Given the description of an element on the screen output the (x, y) to click on. 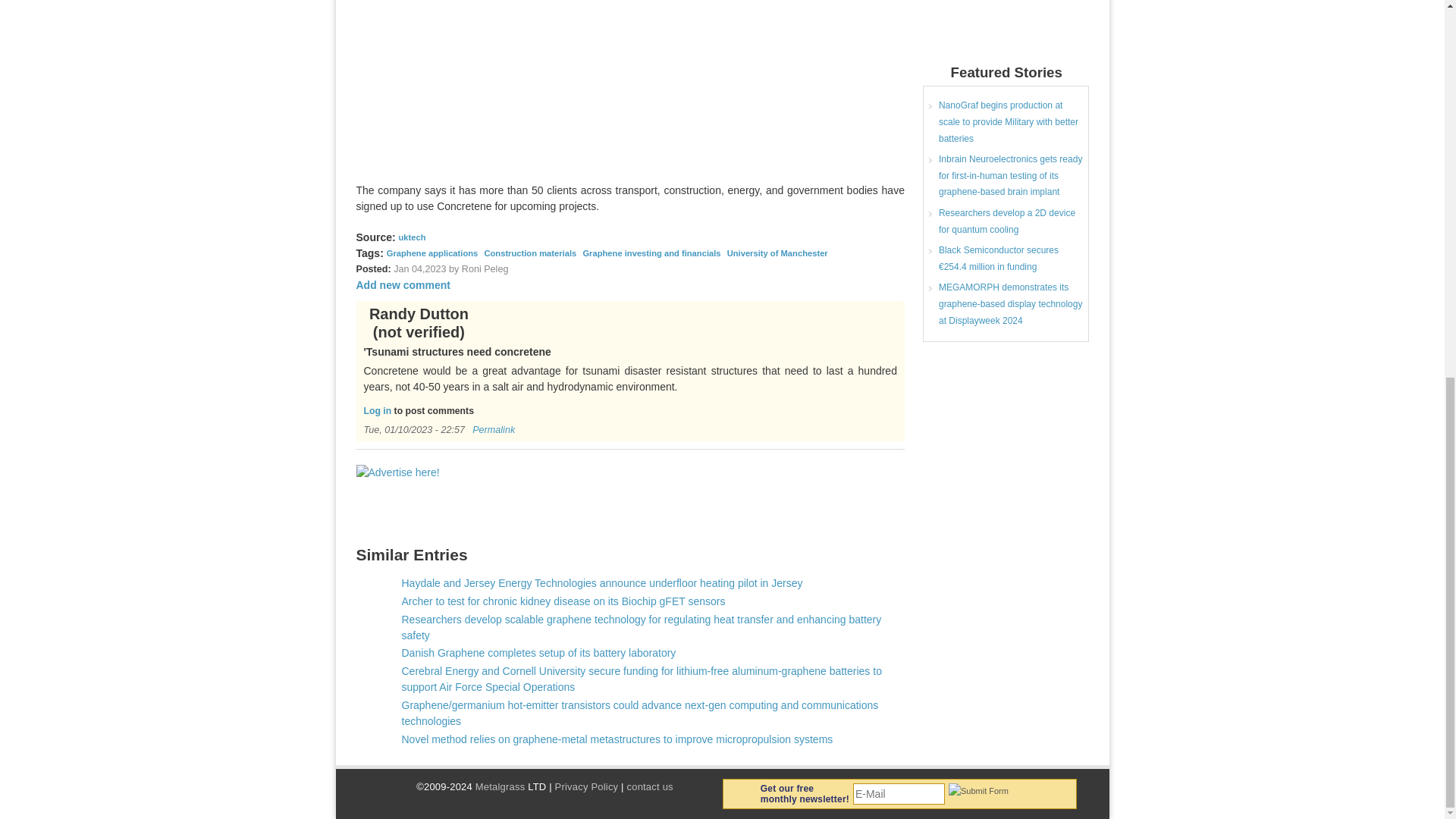
Danish Graphene completes setup of its battery laboratory (539, 653)
Log in (377, 410)
Graphene applications (433, 252)
Graphene investing and financials (651, 252)
Construction materials (529, 252)
Add new comment (402, 285)
Share your thoughts and opinions. (402, 285)
University of Manchester (777, 252)
